Given the description of an element on the screen output the (x, y) to click on. 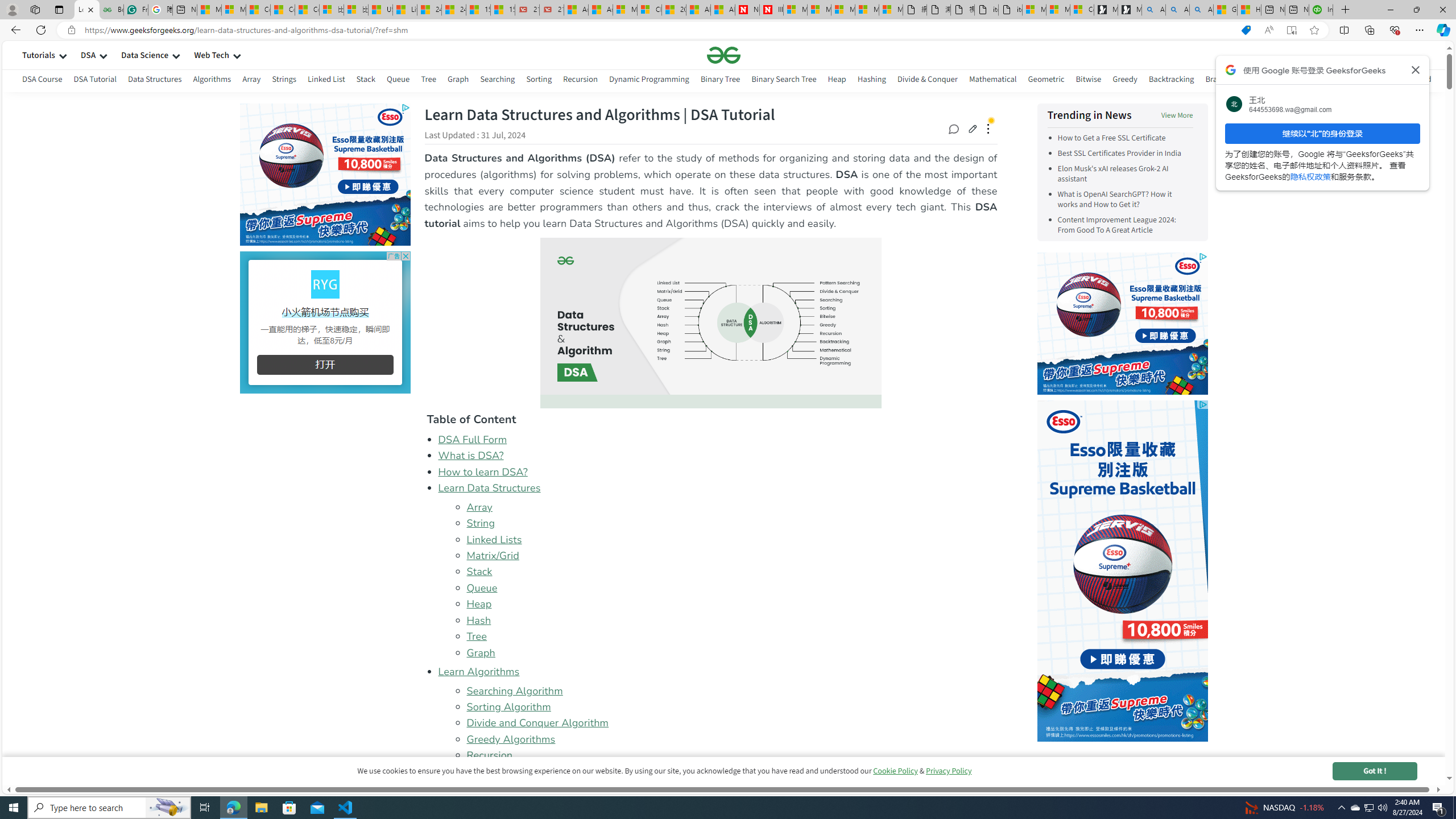
Graph (731, 652)
Learn Algorithms (717, 671)
Binary Tree (719, 79)
Class: ns-xixko-e-5 (324, 283)
Alabama high school quarterback dies - Search (1153, 9)
Intuit QuickBooks Online - Quickbooks (1321, 9)
Searching Algorithm (514, 690)
Randomized (1409, 79)
Elon Musk's xAI releases Grok-2 AI assistant (1113, 173)
What is DSA? (717, 455)
Best SSL Certificates Provider in India (1119, 153)
Greedy (1124, 79)
Privacy Policy (949, 771)
